Given the description of an element on the screen output the (x, y) to click on. 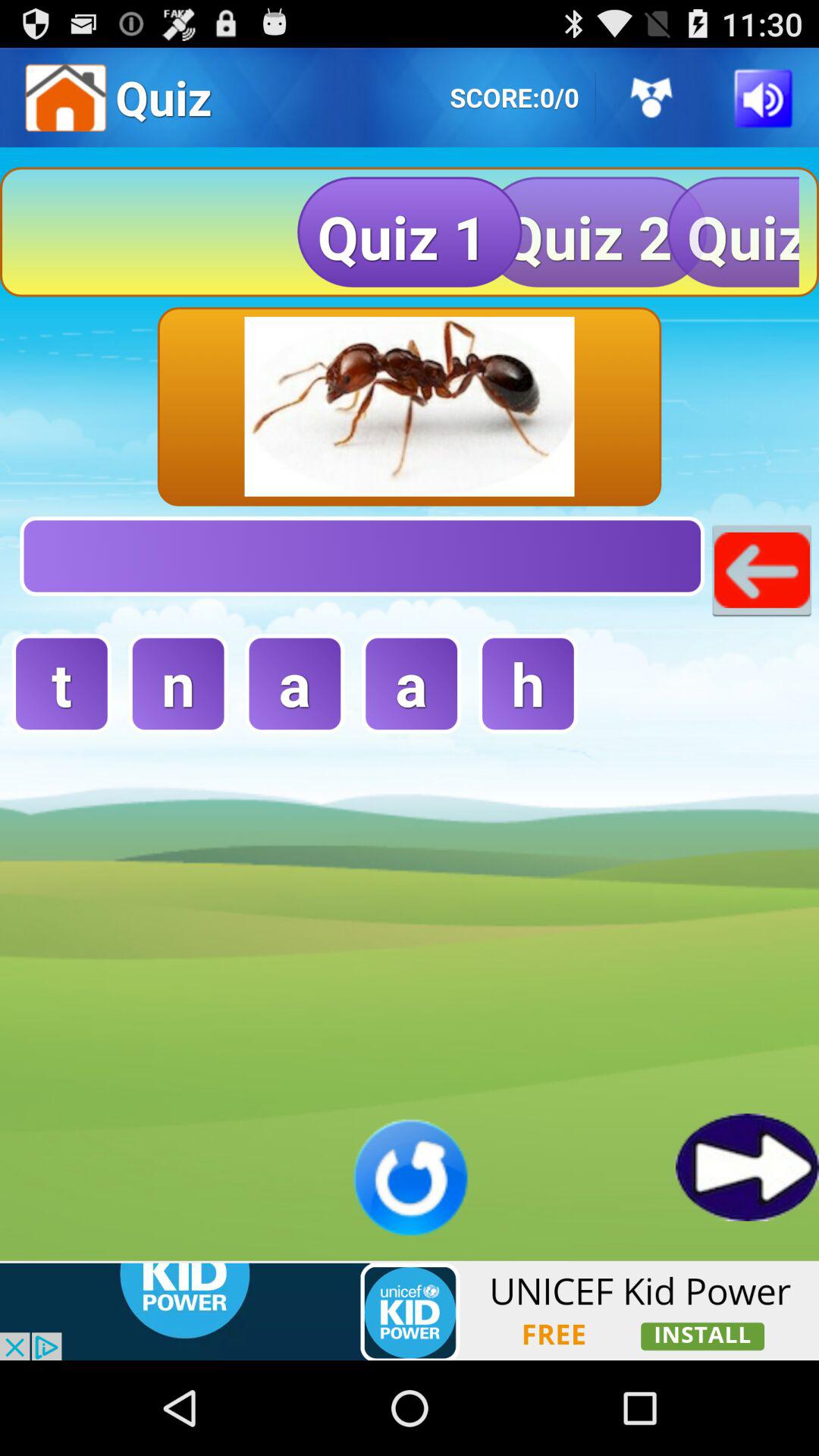
for rotating symbol (409, 1177)
